Given the description of an element on the screen output the (x, y) to click on. 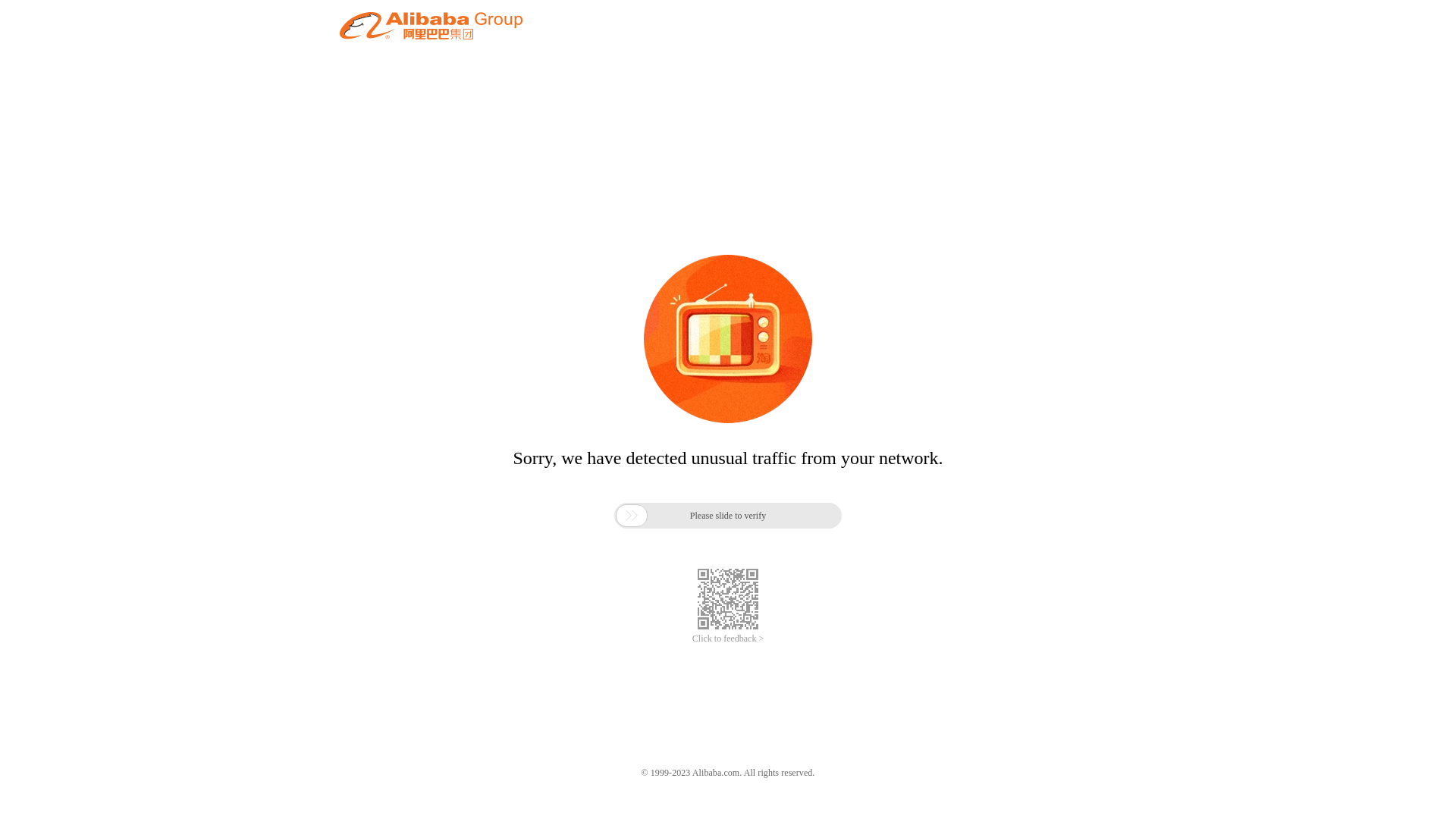
Click to feedback > Element type: text (727, 638)
